Given the description of an element on the screen output the (x, y) to click on. 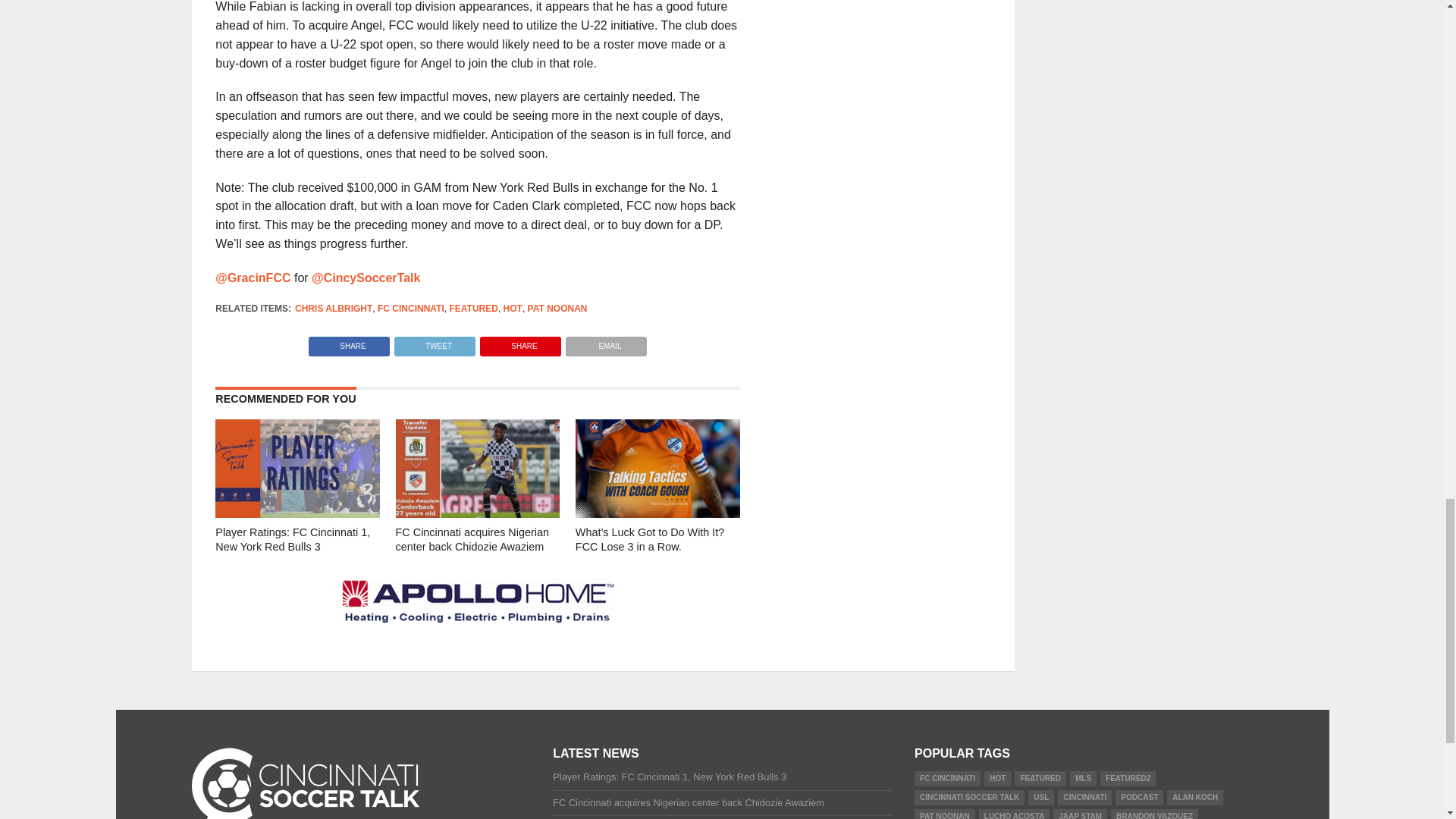
Share on Facebook (349, 341)
Player Ratings: FC Cincinnati 1, New York Red Bulls 3 (297, 513)
FC Cincinnati acquires Nigerian center back Chidozie Awaziem (478, 513)
Tweet This Post (434, 341)
Pin This Post (520, 341)
